Given the description of an element on the screen output the (x, y) to click on. 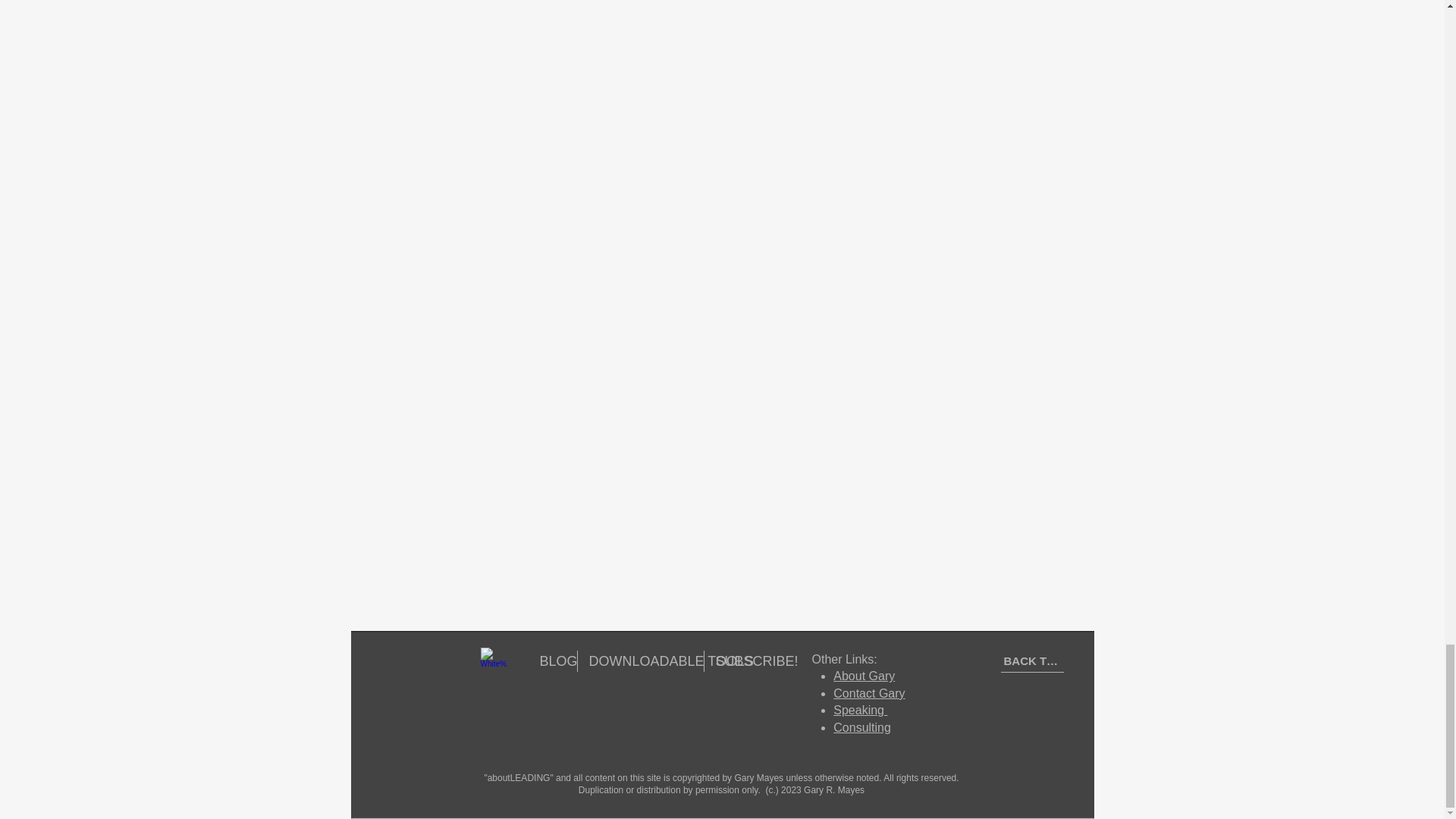
SUBSCRIBE! (741, 660)
About Gary (863, 675)
BLOG (551, 660)
DOWNLOADABLE TOOLS (640, 660)
Consulting (861, 727)
BACK TO TOP (1032, 661)
Speaking  (859, 709)
Contact Gary (868, 693)
